Given the description of an element on the screen output the (x, y) to click on. 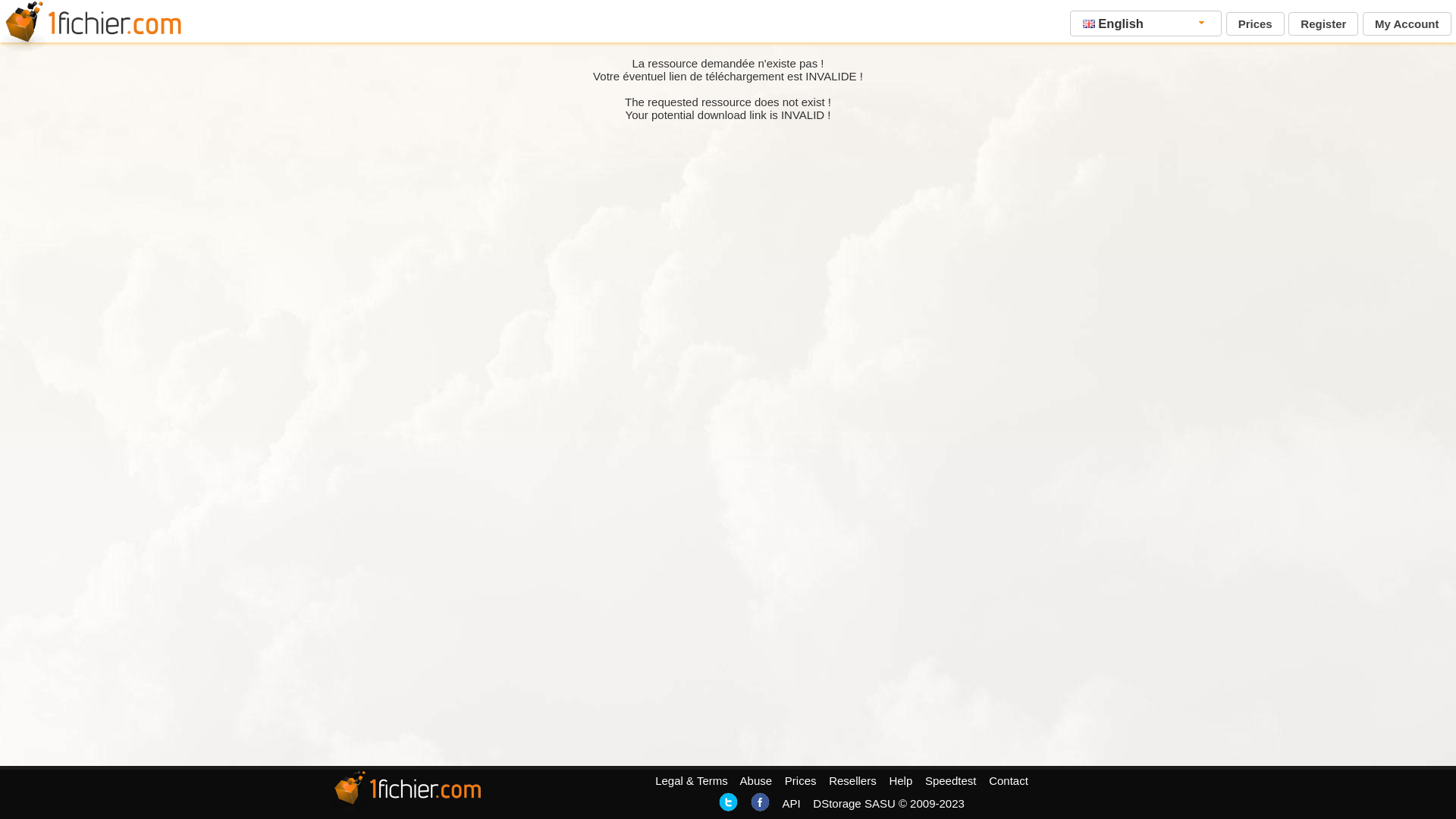
My Account Element type: text (1406, 23)
Prices Element type: text (800, 780)
Speedtest Element type: text (950, 780)
Abuse Element type: text (756, 780)
API Element type: text (790, 803)
Legal & Terms Element type: text (691, 780)
Resellers Element type: text (852, 780)
Contact Element type: text (1008, 780)
Register Element type: text (1323, 23)
Help Element type: text (900, 780)
Prices Element type: text (1255, 23)
